Given the description of an element on the screen output the (x, y) to click on. 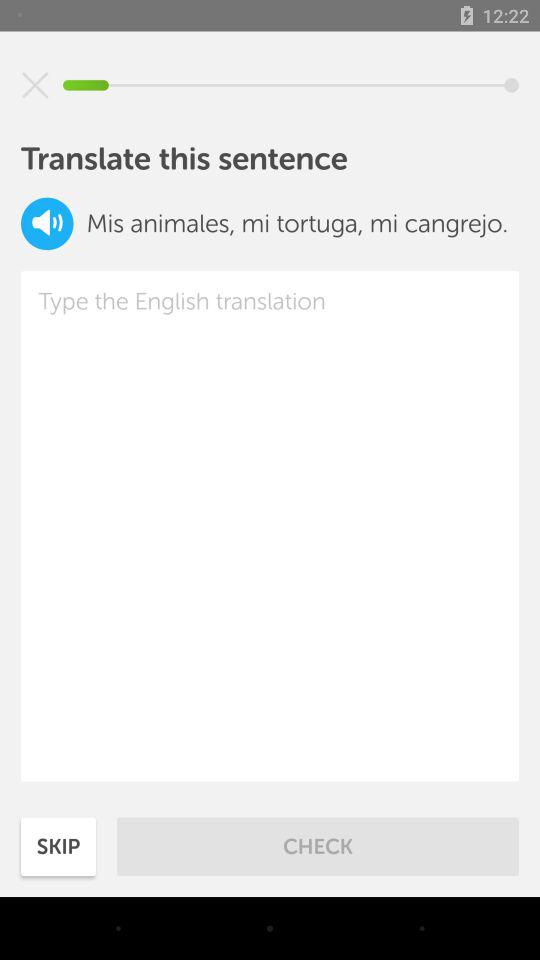
listen to translation (47, 223)
